Given the description of an element on the screen output the (x, y) to click on. 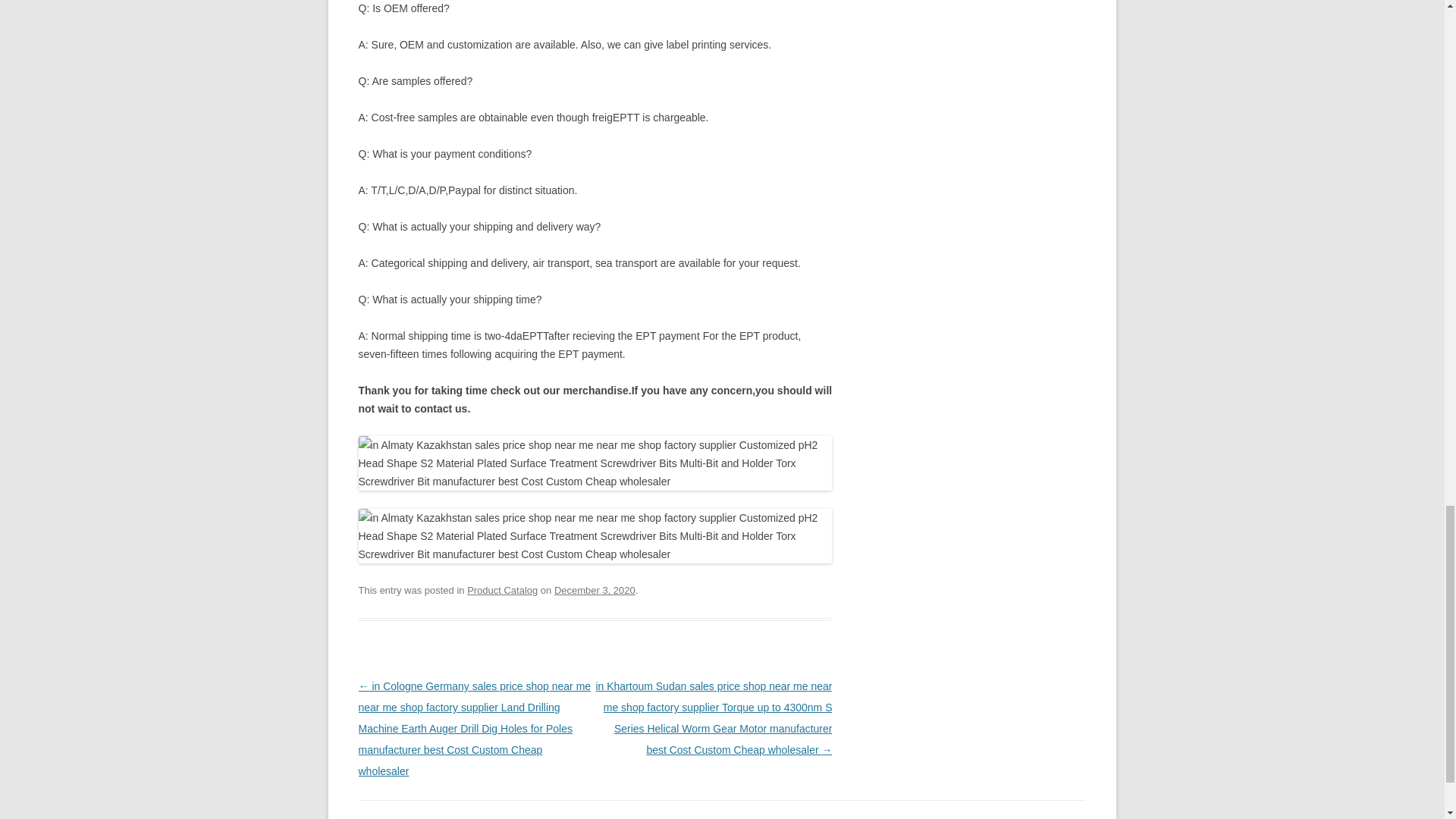
Product Catalog (502, 590)
10:48 pm (594, 590)
December 3, 2020 (594, 590)
